Given the description of an element on the screen output the (x, y) to click on. 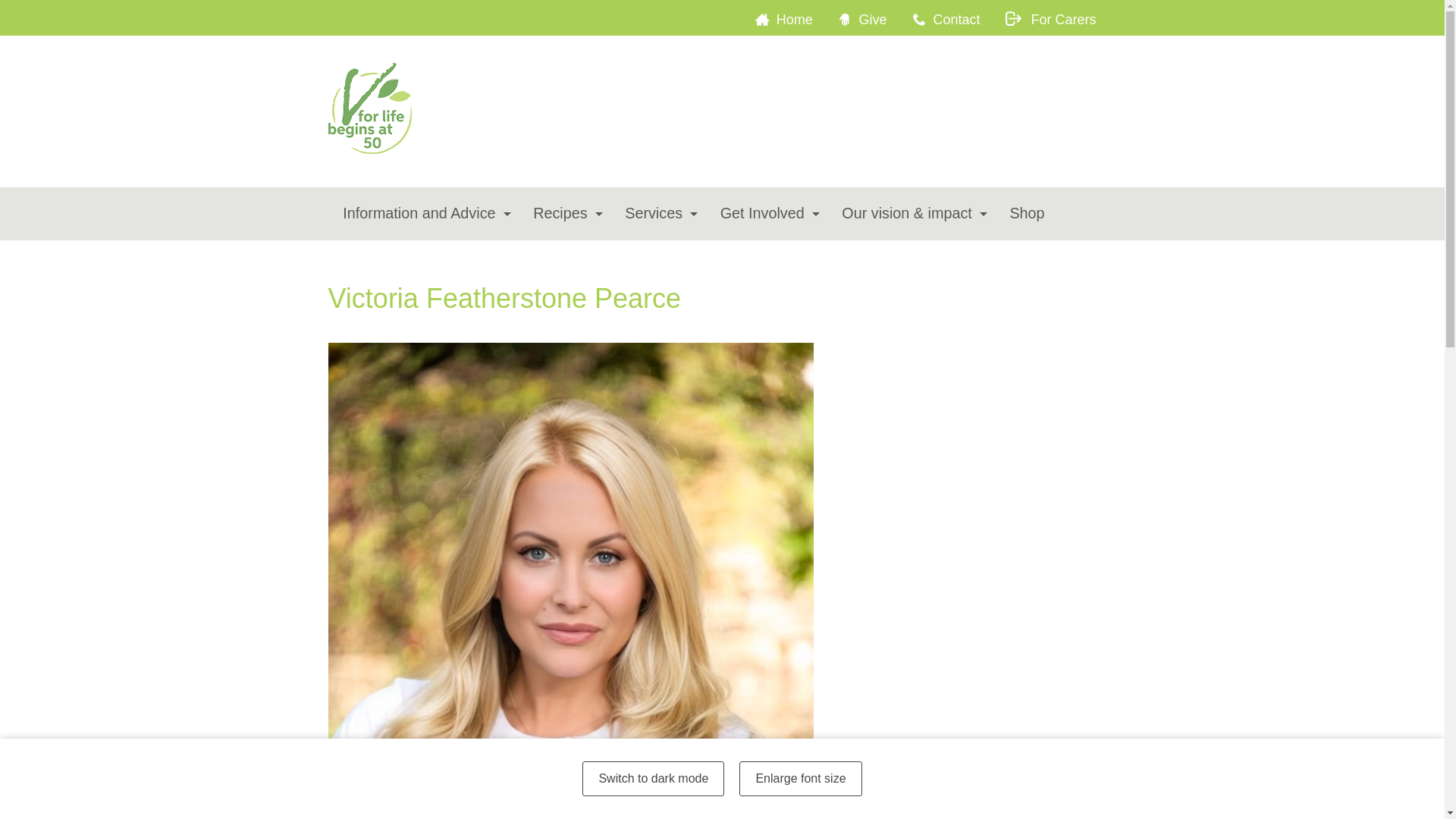
Home (793, 19)
Information and Advice (422, 213)
For Carers (1060, 19)
Give (872, 19)
Recipes (564, 213)
Shop (1026, 213)
Contact (956, 19)
Get Involved (765, 213)
Services (657, 213)
